Given the description of an element on the screen output the (x, y) to click on. 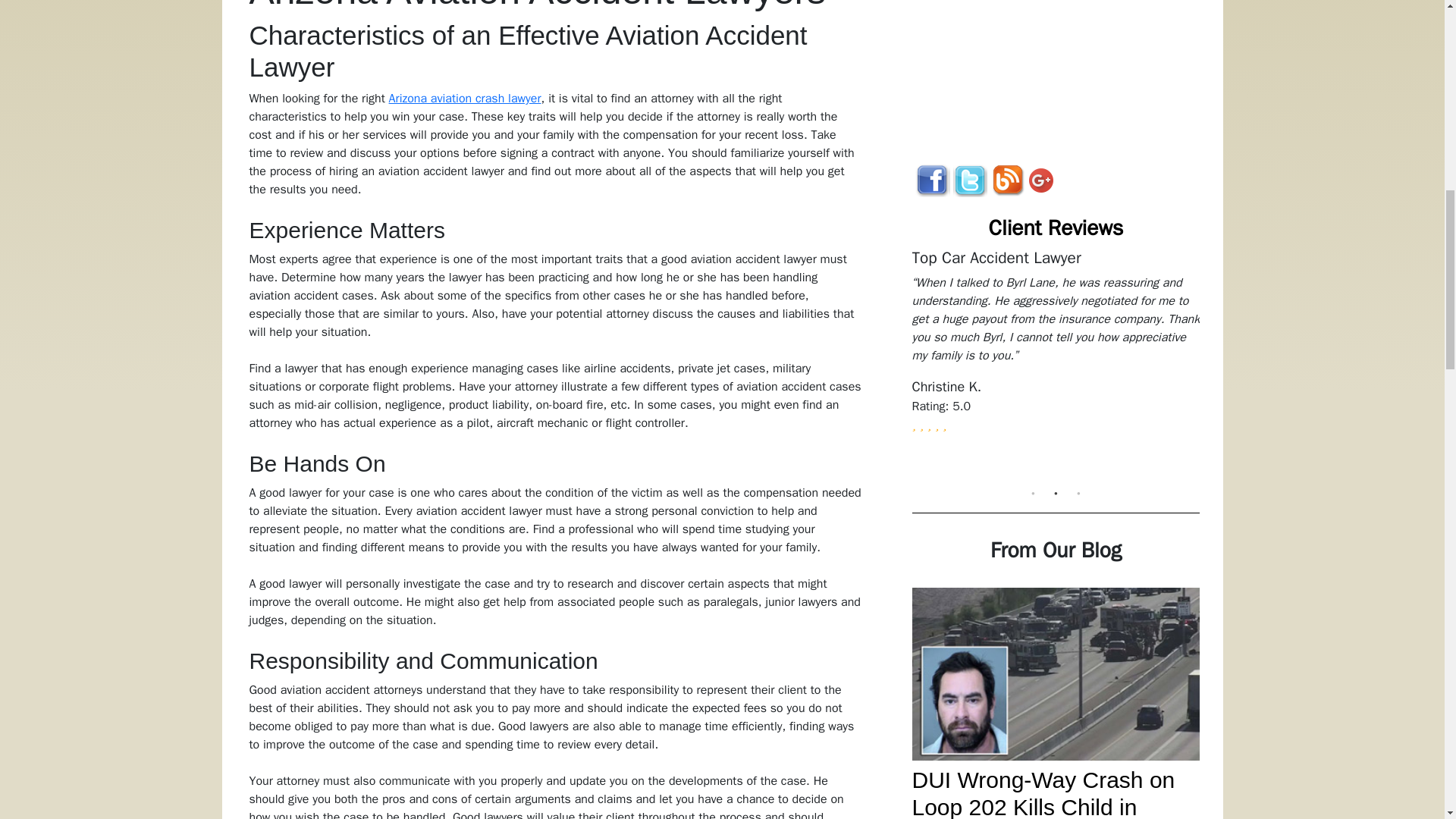
3 (1078, 493)
Client Reviews (1055, 227)
YouTube video player (1062, 70)
2 (1055, 493)
Arizona Aviation Crash Lawyer (464, 98)
DUI Wrong-Way Crash on Loop 202 Kills Child in Phoenix (1042, 793)
1 (1033, 493)
Arizona aviation crash lawyer (464, 98)
